Given the description of an element on the screen output the (x, y) to click on. 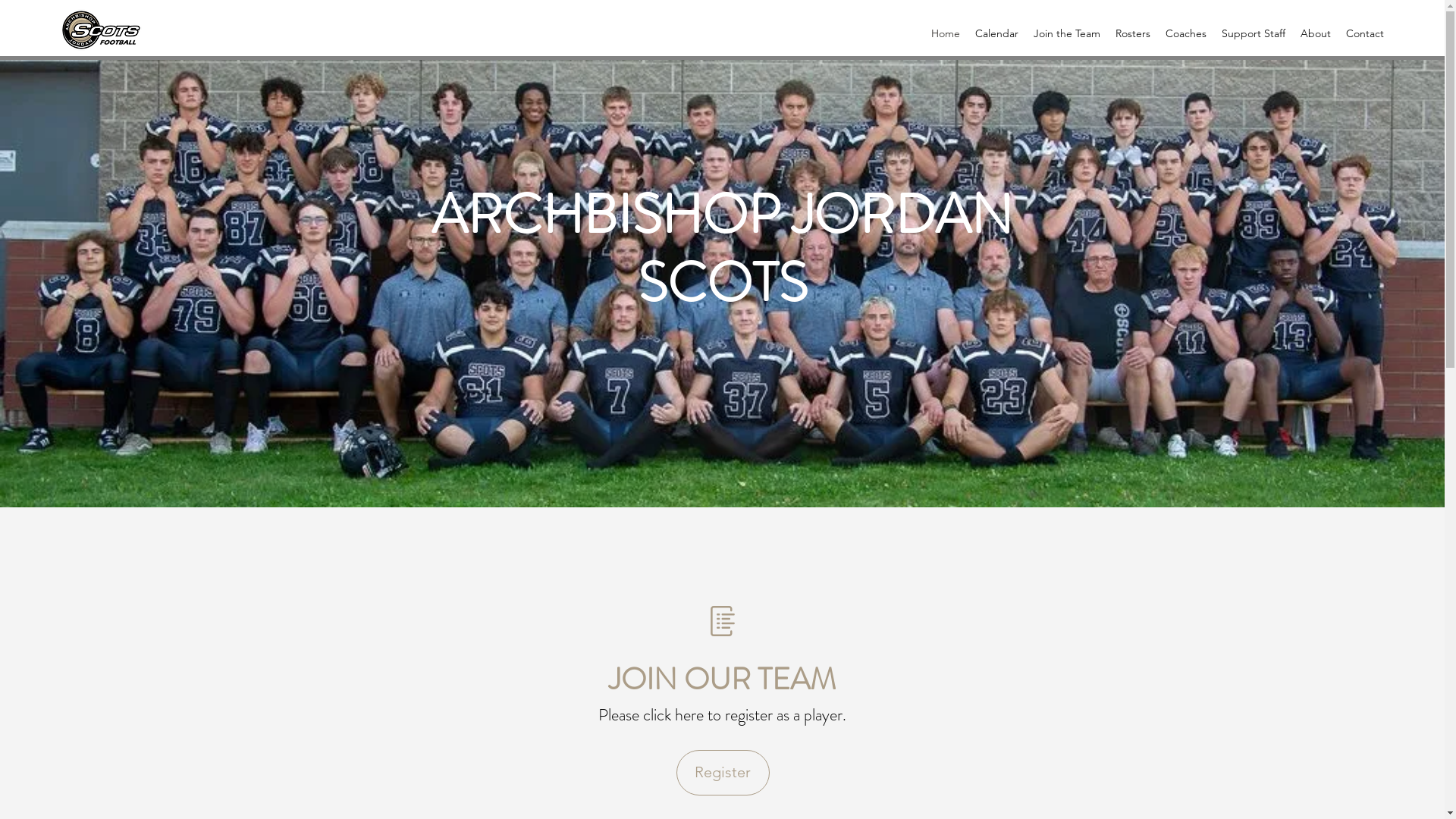
Home Element type: text (945, 32)
About Element type: text (1315, 32)
Register Element type: text (722, 772)
Rosters Element type: text (1132, 32)
Coaches Element type: text (1185, 32)
Calendar Element type: text (996, 32)
Support Staff Element type: text (1253, 32)
Join the Team Element type: text (1066, 32)
Contact Element type: text (1364, 32)
